Given the description of an element on the screen output the (x, y) to click on. 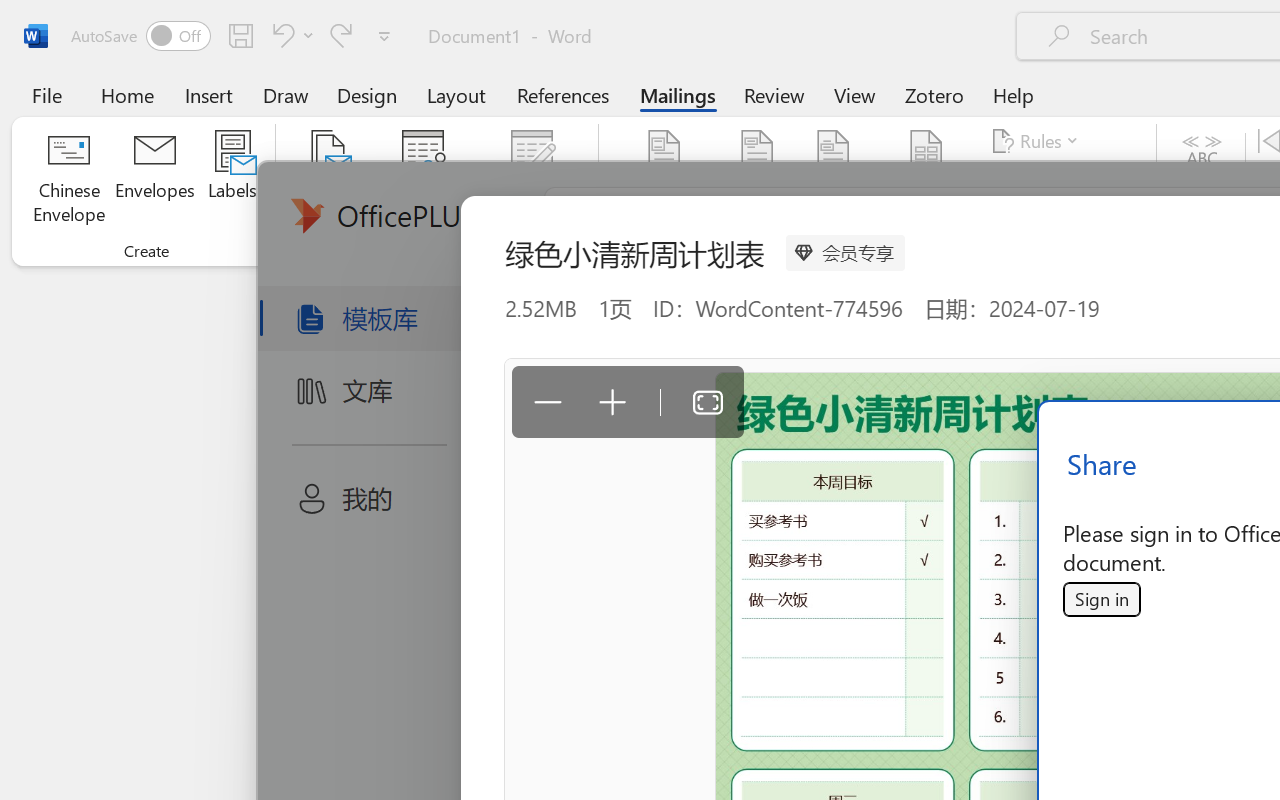
Labels... (232, 179)
Match Fields... (1057, 179)
Chinese Envelope... (68, 179)
Highlight Merge Fields (664, 179)
Redo Apply Quick Style (341, 35)
Preview Results (1202, 179)
Insert Merge Field (927, 179)
